Given the description of an element on the screen output the (x, y) to click on. 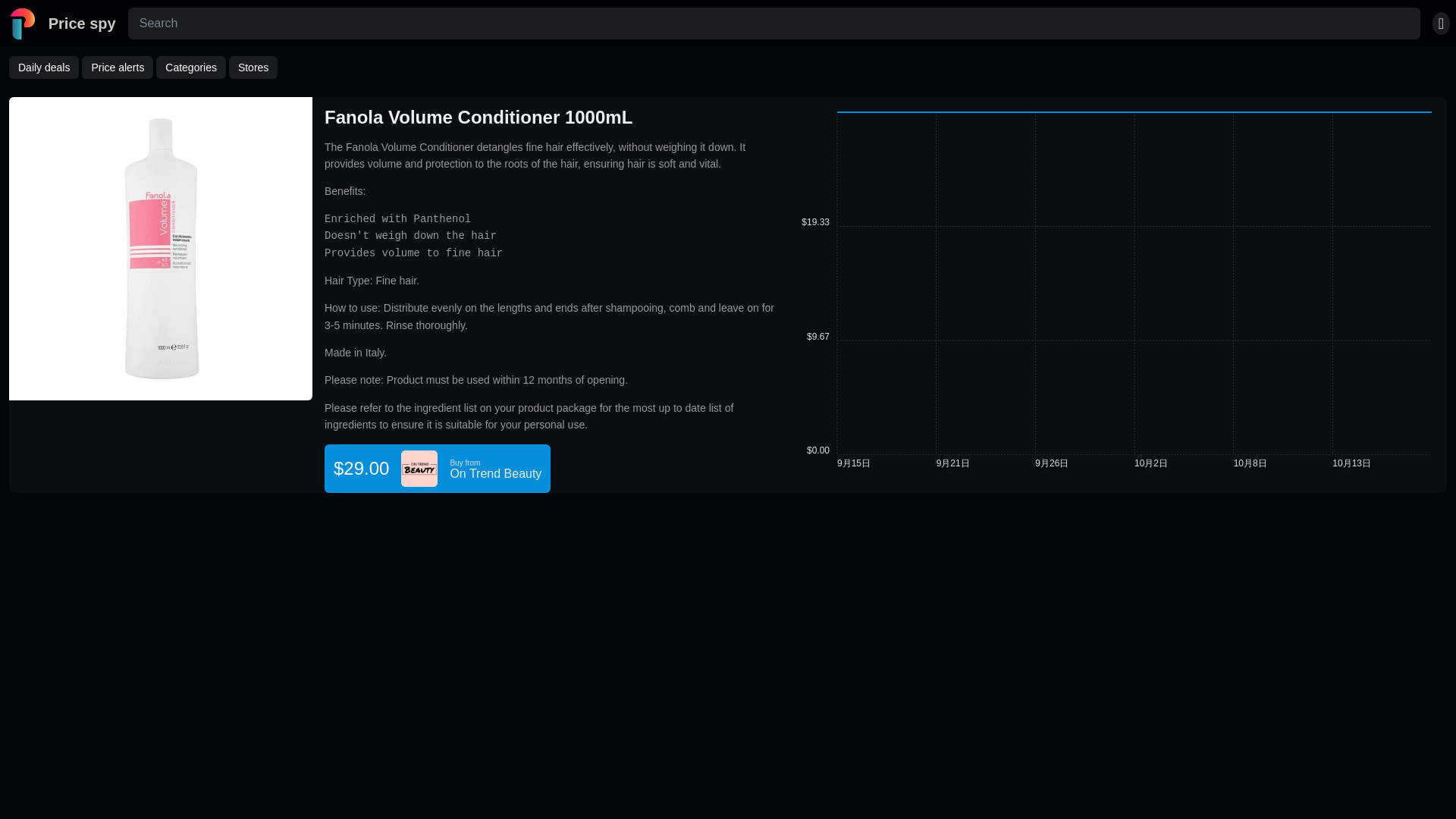
Price alerts (116, 67)
Daily deals (43, 67)
Stores (253, 67)
 Price spy (60, 22)
Categories (190, 67)
